Given the description of an element on the screen output the (x, y) to click on. 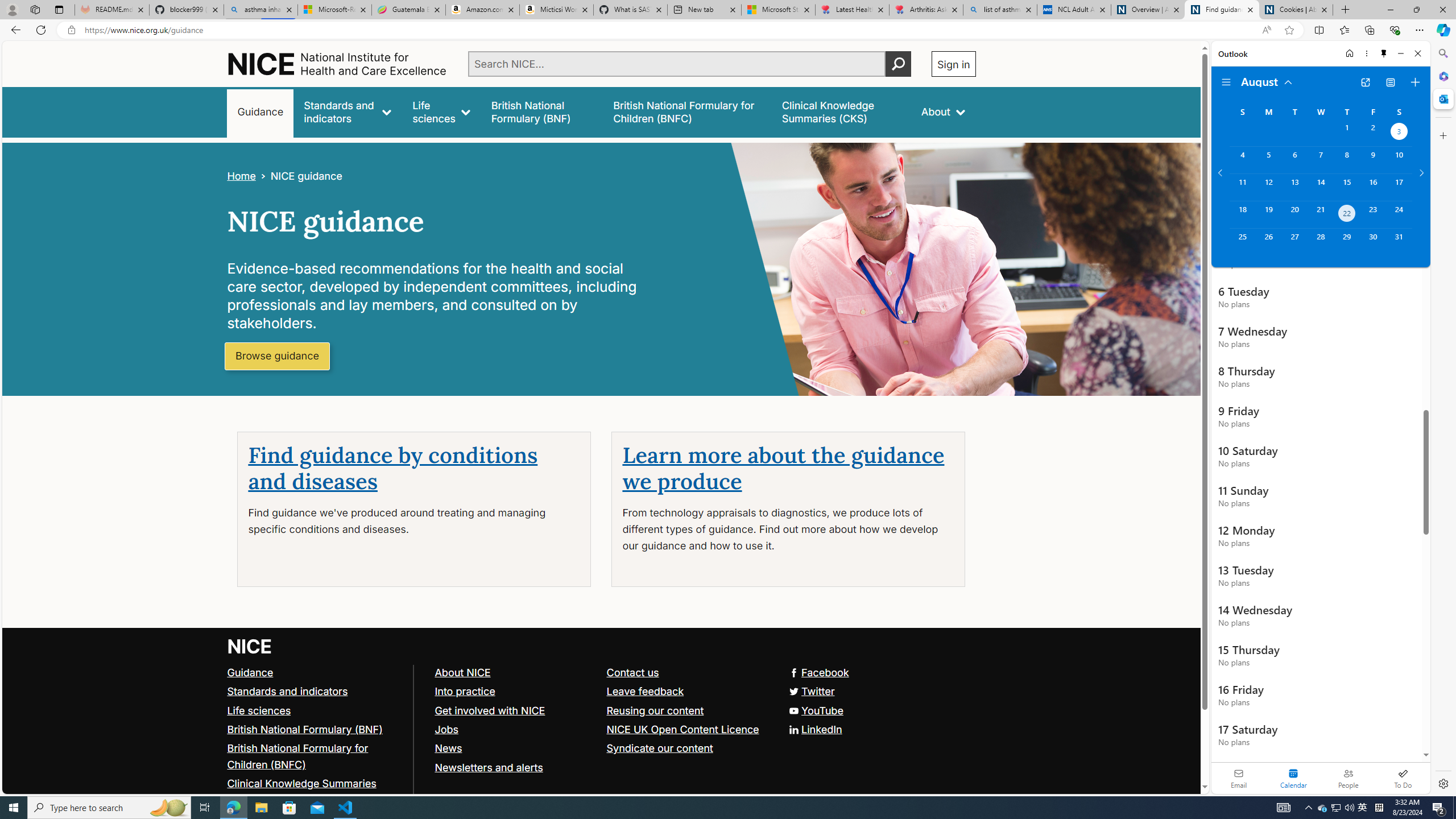
Unpin side pane (1383, 53)
About (942, 111)
About (942, 111)
Leave feedback (686, 691)
Thursday, August 8, 2024.  (1346, 159)
Life sciences (315, 710)
Monday, August 5, 2024.  (1268, 159)
Facebook (601, 672)
>NICE guidance (298, 176)
